Given the description of an element on the screen output the (x, y) to click on. 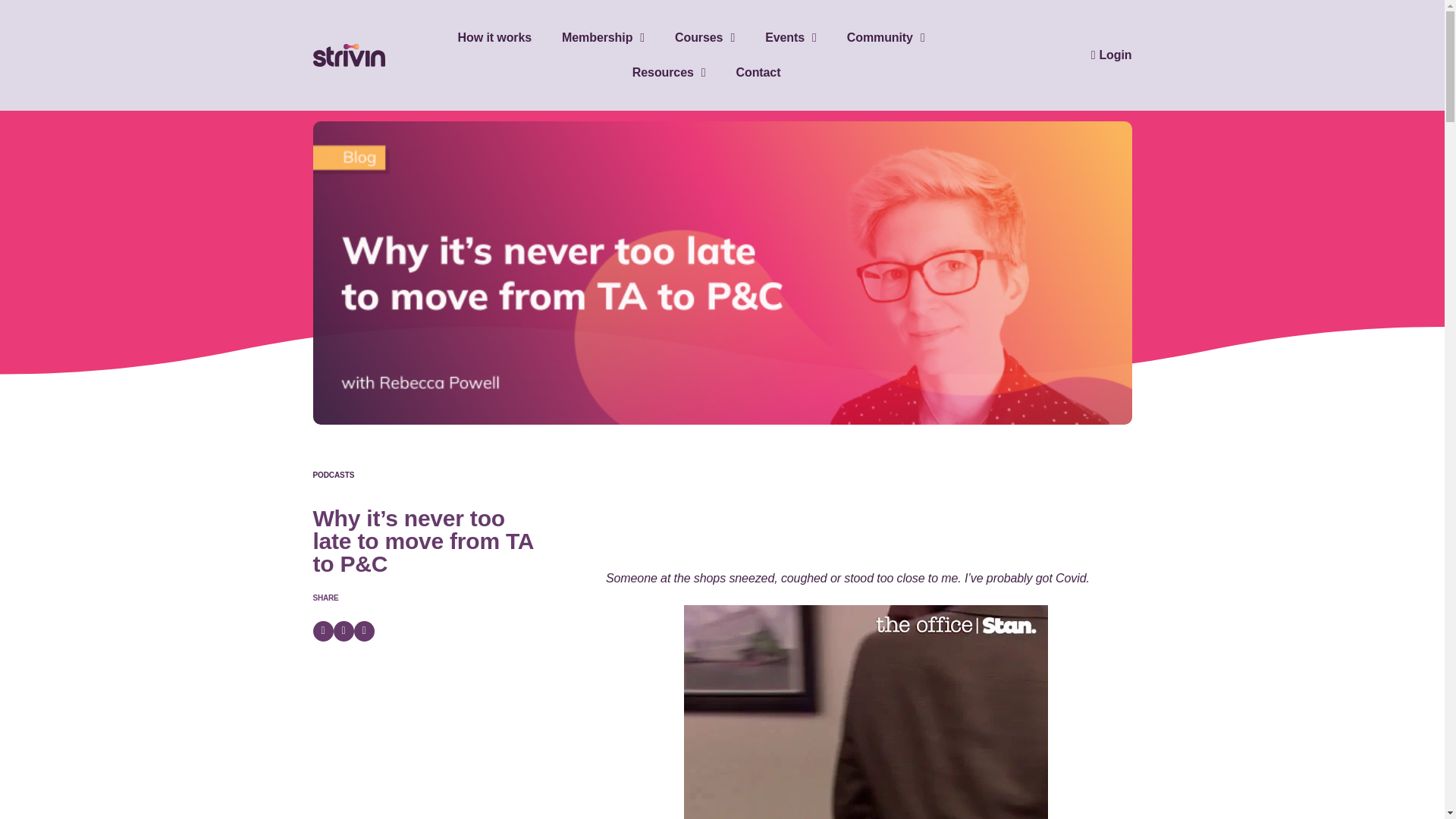
Membership (603, 37)
Events (790, 37)
Community (885, 37)
How it works (495, 37)
Courses (705, 37)
Resources (668, 72)
Contact (758, 72)
